Given the description of an element on the screen output the (x, y) to click on. 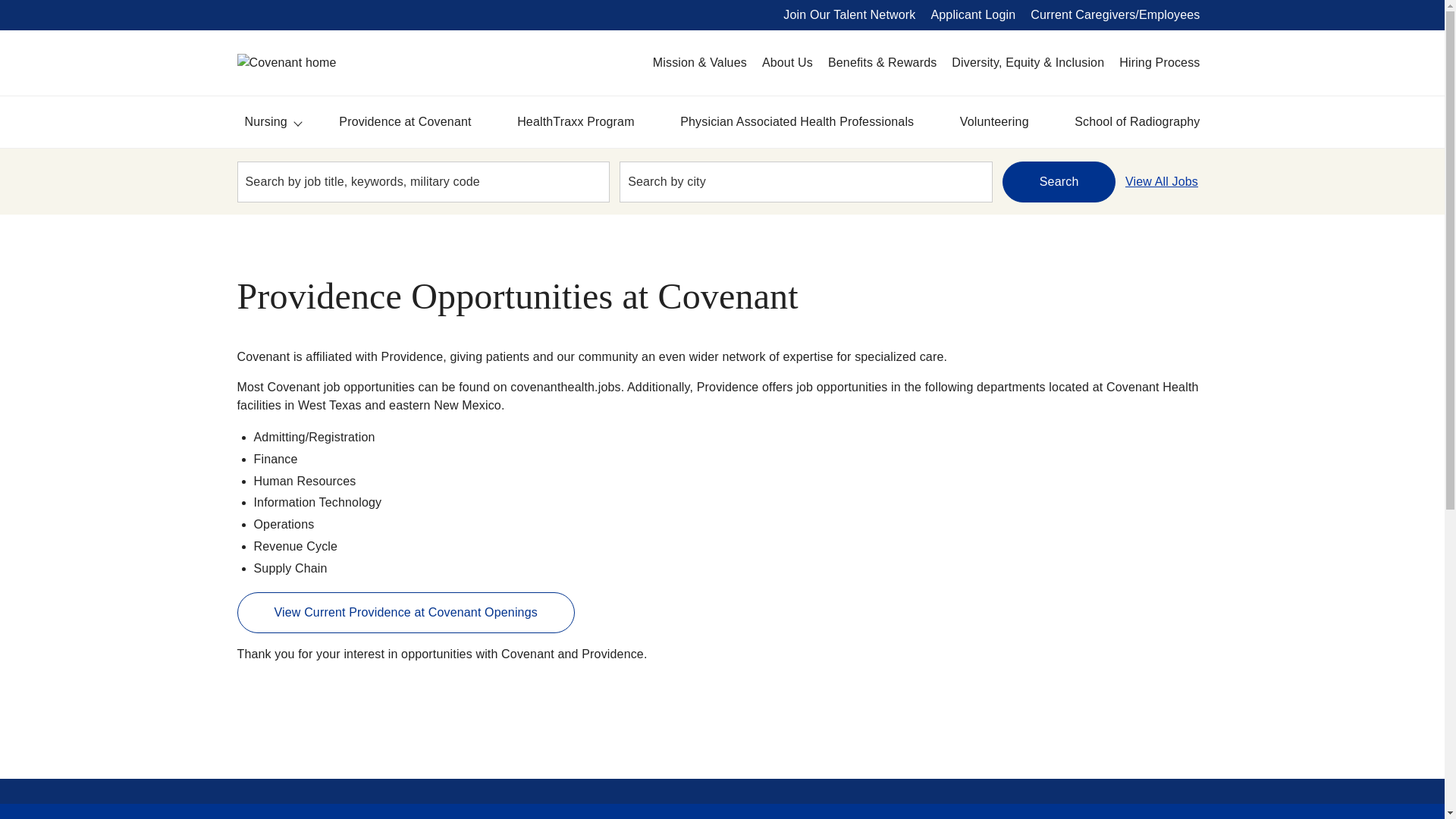
HealthTraxx Program (575, 122)
View Current Providence at Covenant Openings (404, 612)
Search (1059, 180)
Nursing (264, 122)
Providence at Covenant (405, 122)
Applicant Login (973, 15)
School of Radiography (1137, 122)
Join Our Talent Network (849, 15)
Nursing (296, 120)
Volunteering (994, 122)
